Given the description of an element on the screen output the (x, y) to click on. 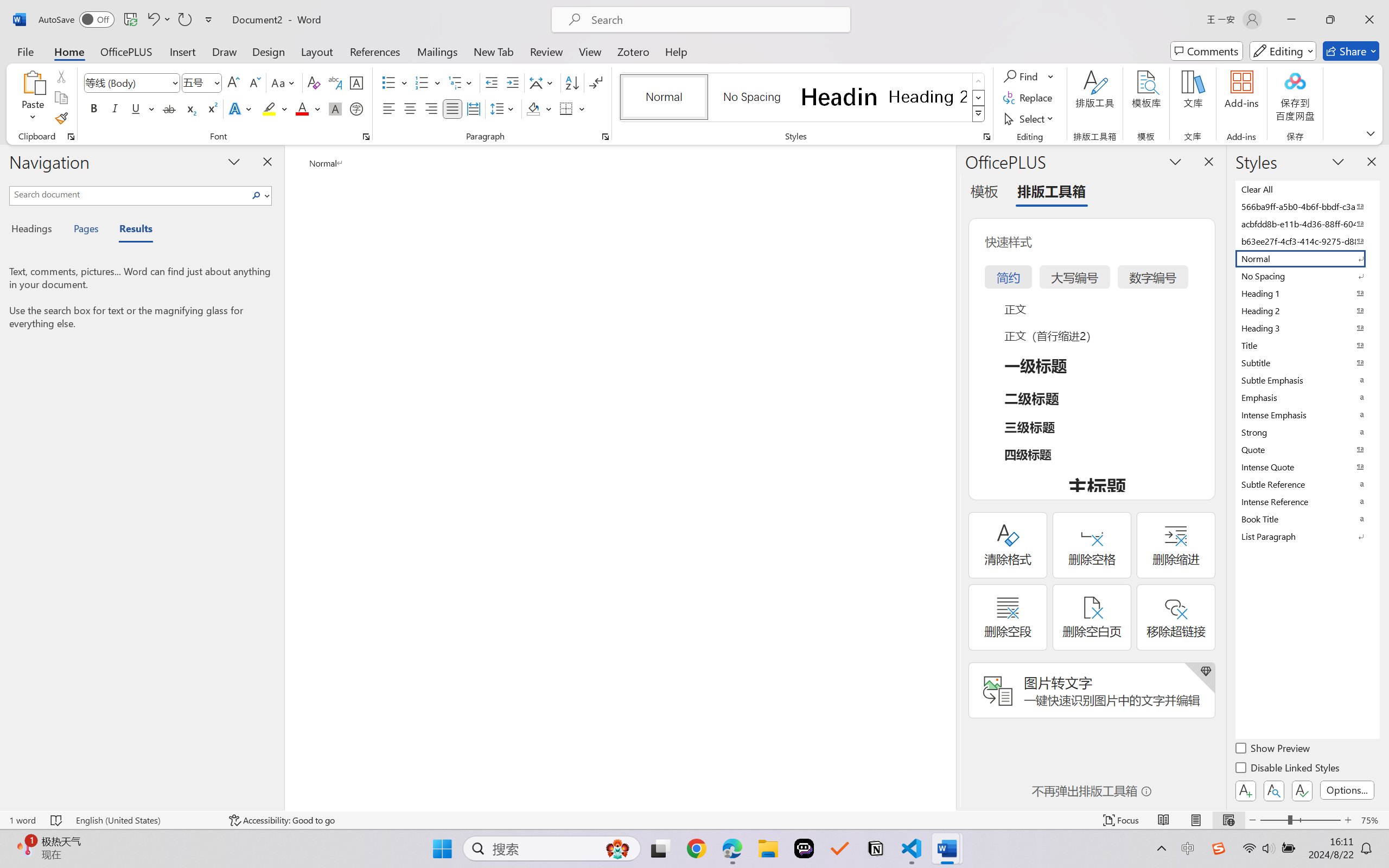
Font... (365, 136)
Office Clipboard... (70, 136)
Text Highlight Color Yellow (269, 108)
Copy (60, 97)
Microsoft search (715, 19)
AutomationID: QuickStylesGallery (802, 97)
Asian Layout (542, 82)
Quote (1306, 449)
